Given the description of an element on the screen output the (x, y) to click on. 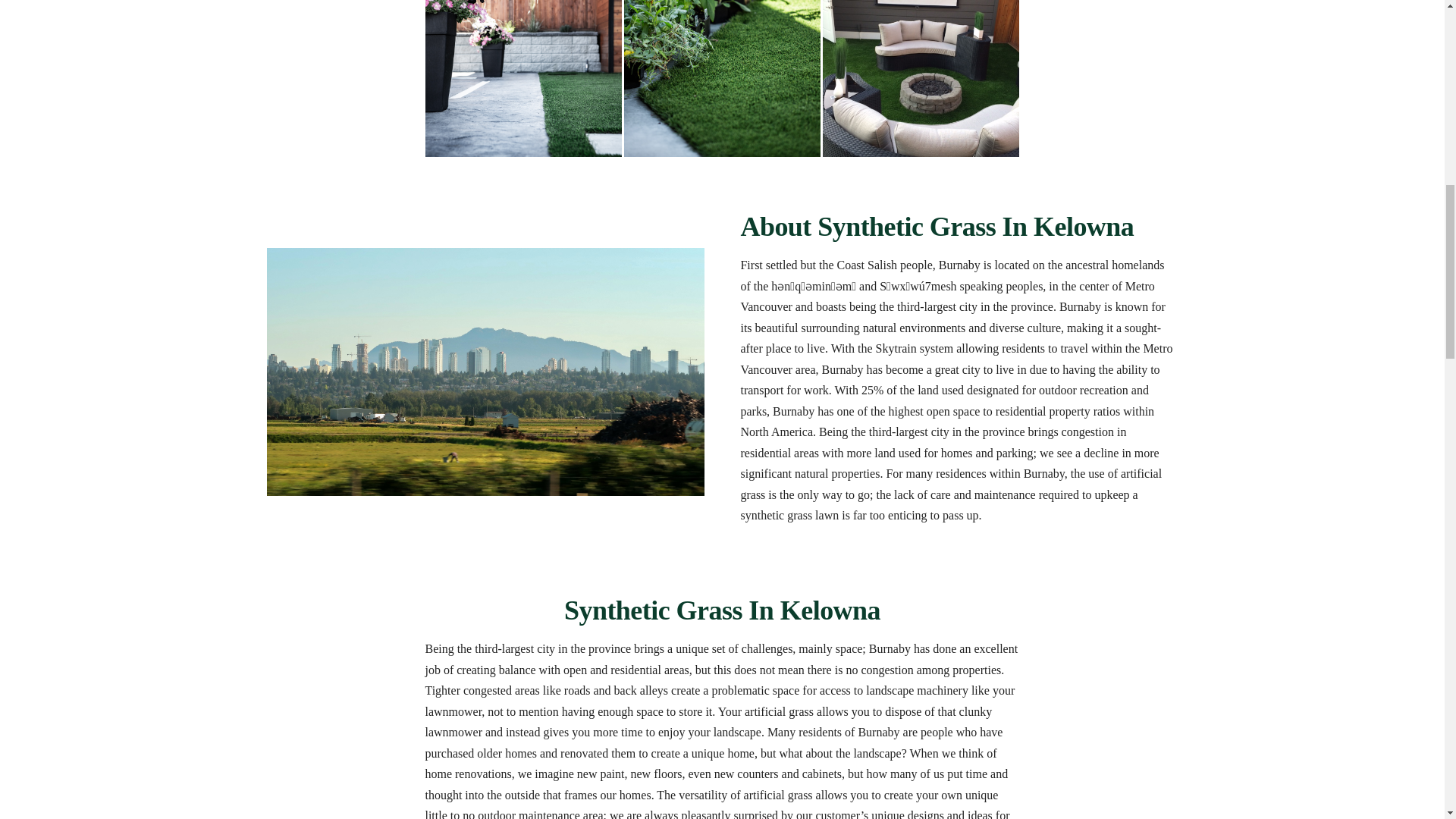
Premium Grass Blades Synthetic Artificial Turf (523, 78)
Furniture4 (920, 78)
